Given the description of an element on the screen output the (x, y) to click on. 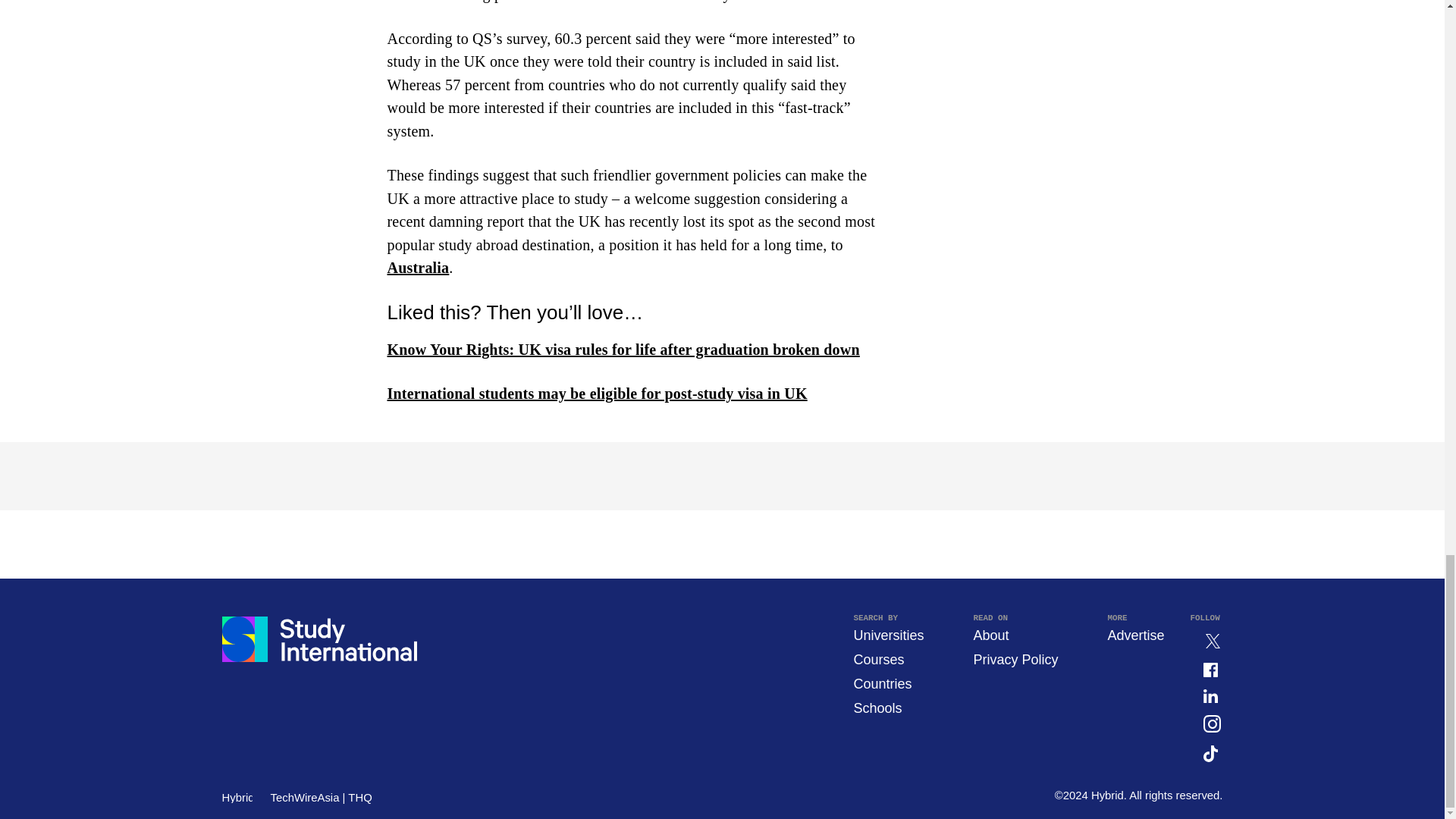
3rd party ad content (1078, 6)
Australia (417, 267)
Universities (888, 635)
Courses (878, 659)
Countries (882, 683)
Schools (877, 708)
